Given the description of an element on the screen output the (x, y) to click on. 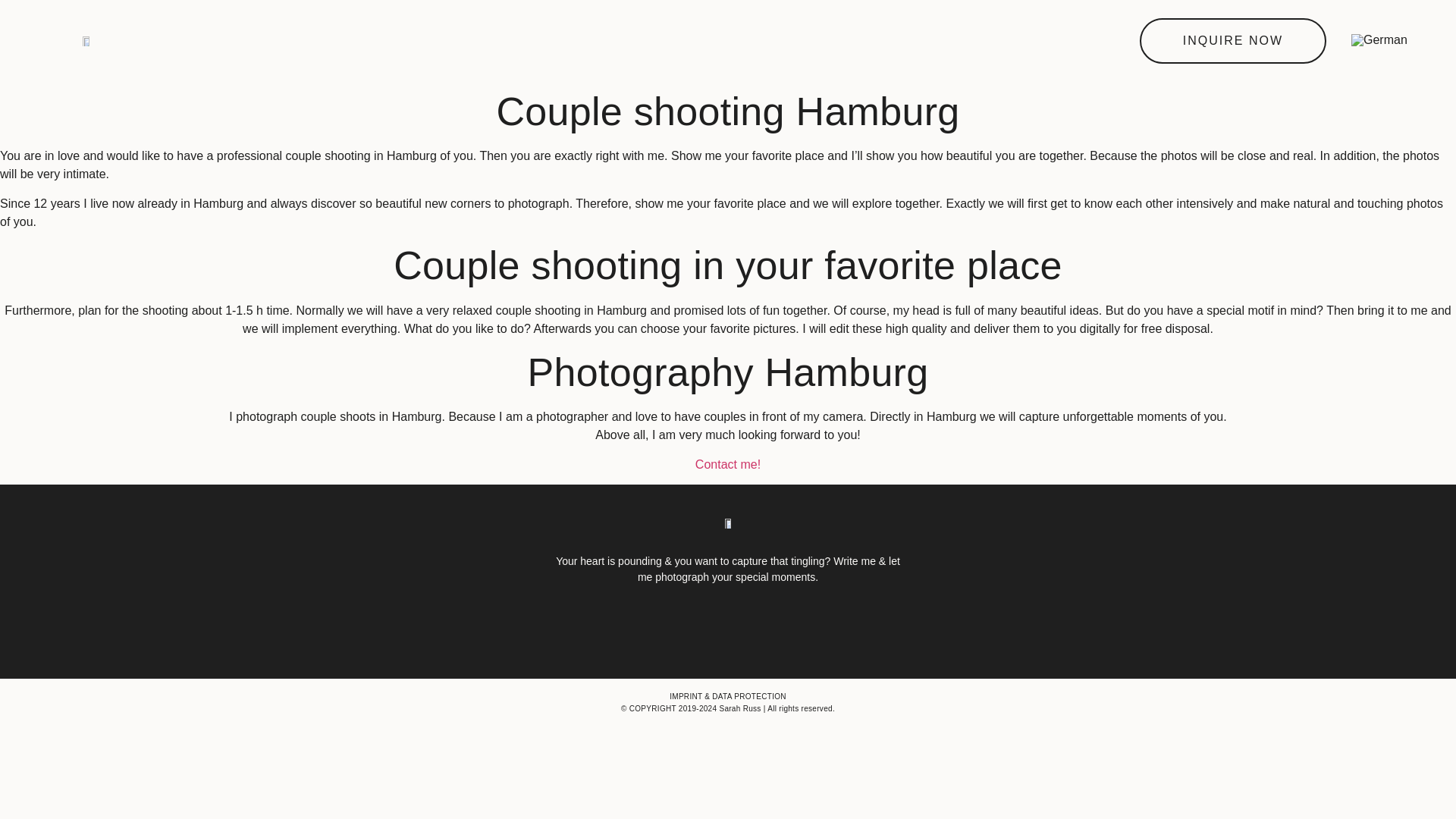
INQUIRE NOW (1233, 40)
Contact me! (727, 463)
